Given the description of an element on the screen output the (x, y) to click on. 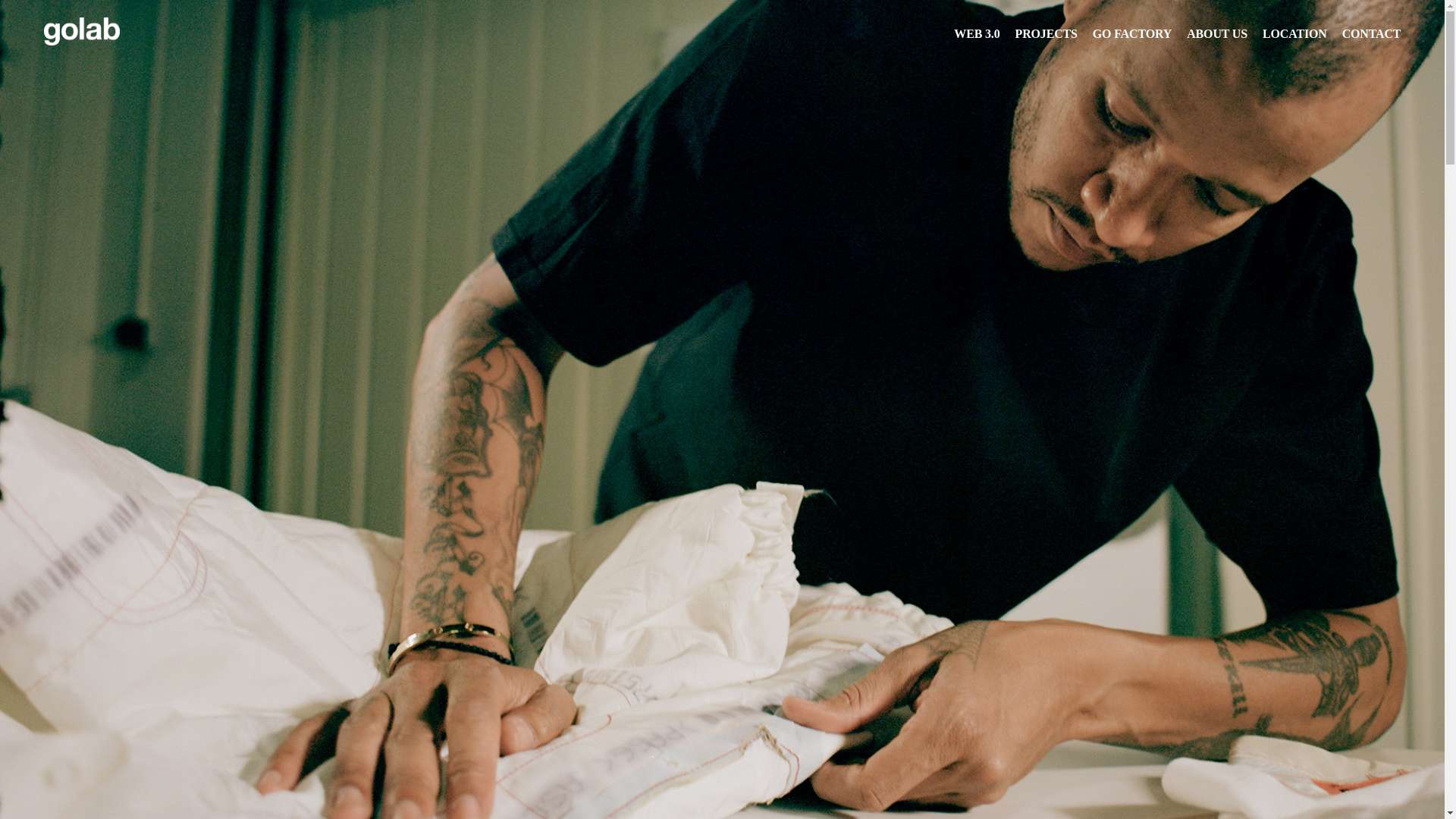
WEB 3.0 (976, 33)
GO FACTORY (1131, 33)
ABOUT US (1217, 33)
CONTACT (1372, 33)
LOCATION (1295, 33)
PROJECTS (1045, 33)
